Given the description of an element on the screen output the (x, y) to click on. 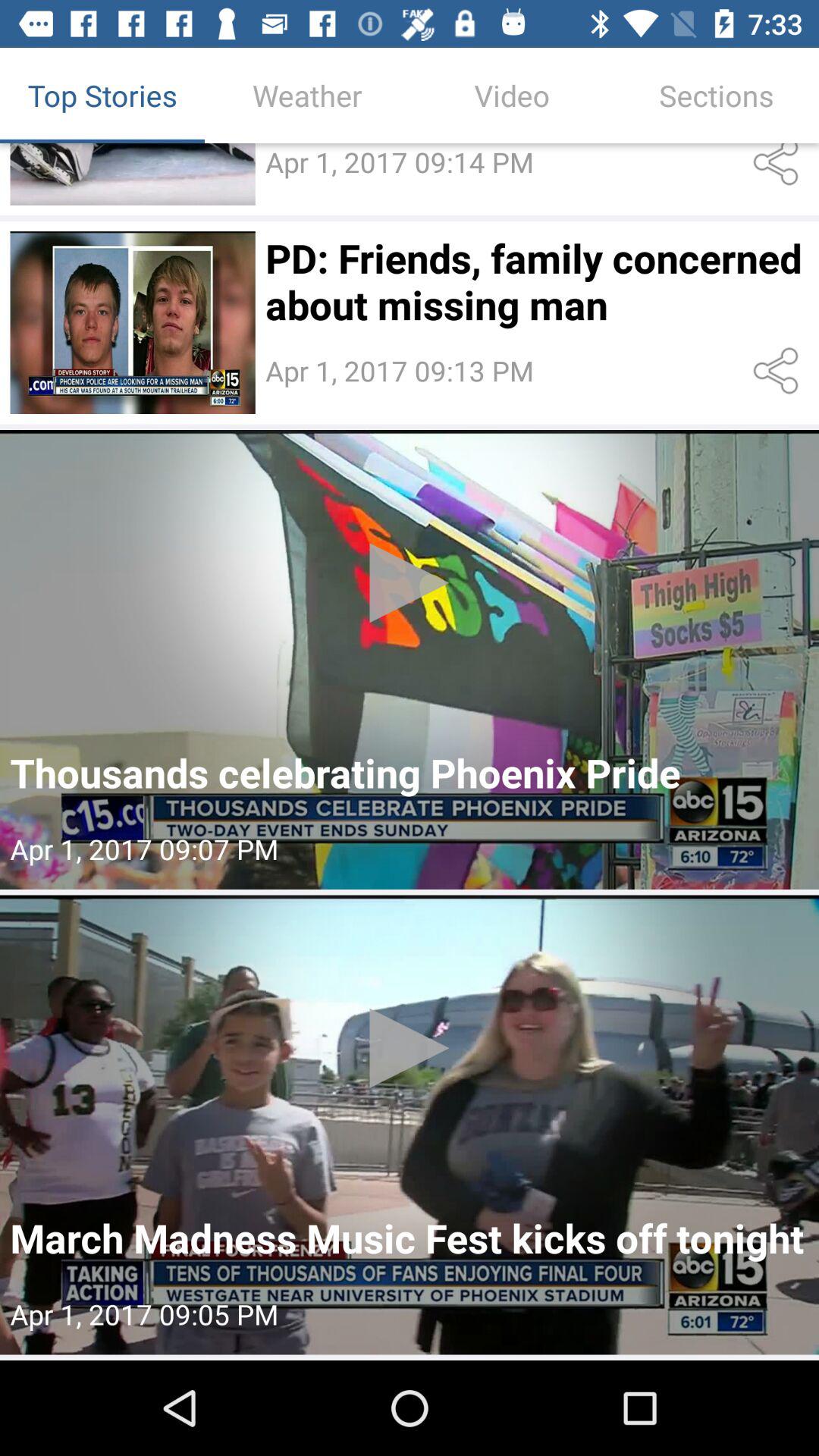
share article (778, 370)
